Given the description of an element on the screen output the (x, y) to click on. 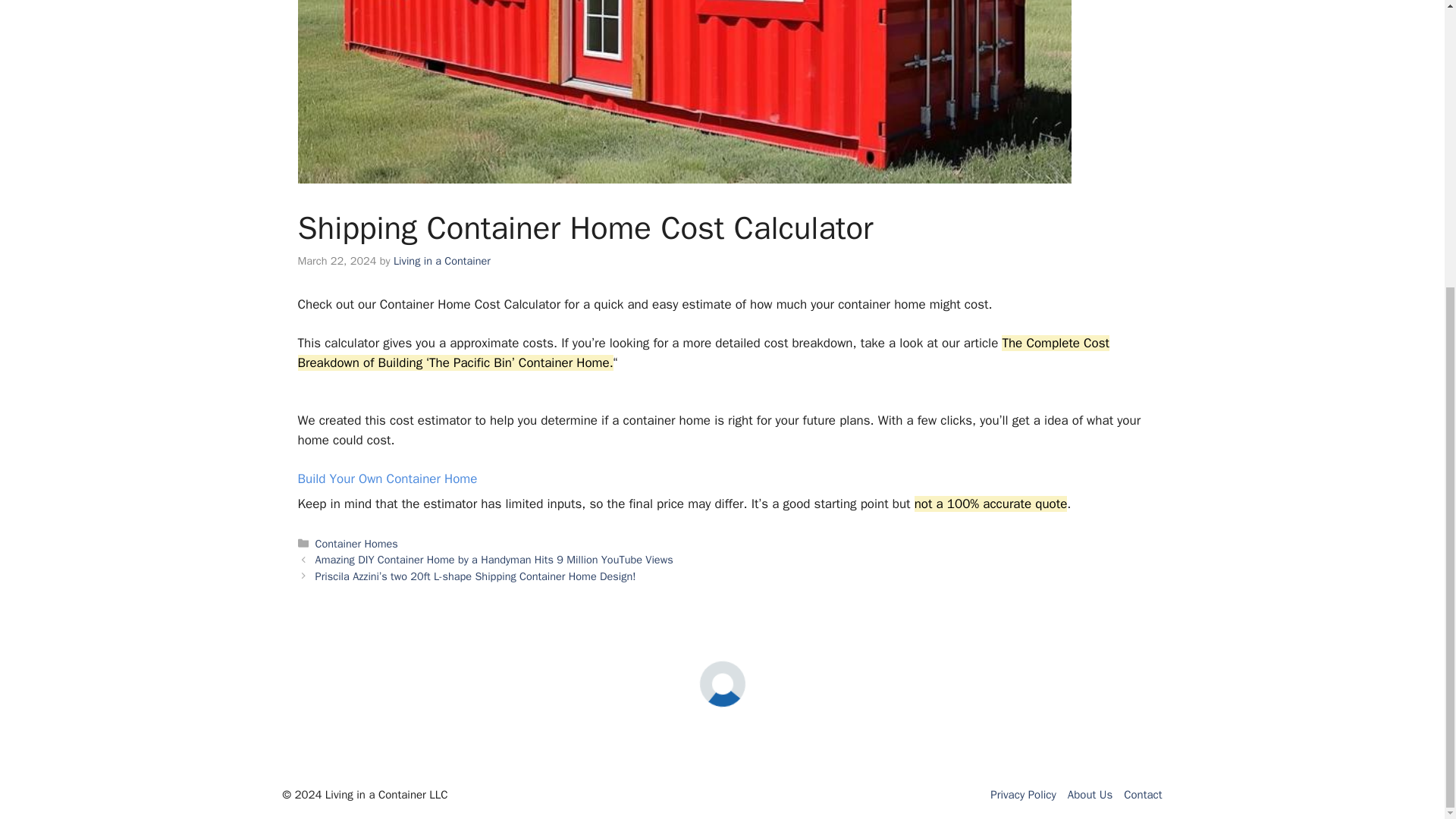
Container Homes (356, 543)
Build Your Own Container Home (387, 478)
Living in a Container (441, 260)
Contact (1142, 794)
View all posts by Living in a Container (441, 260)
Privacy Policy (1023, 794)
About Us (1089, 794)
